Given the description of an element on the screen output the (x, y) to click on. 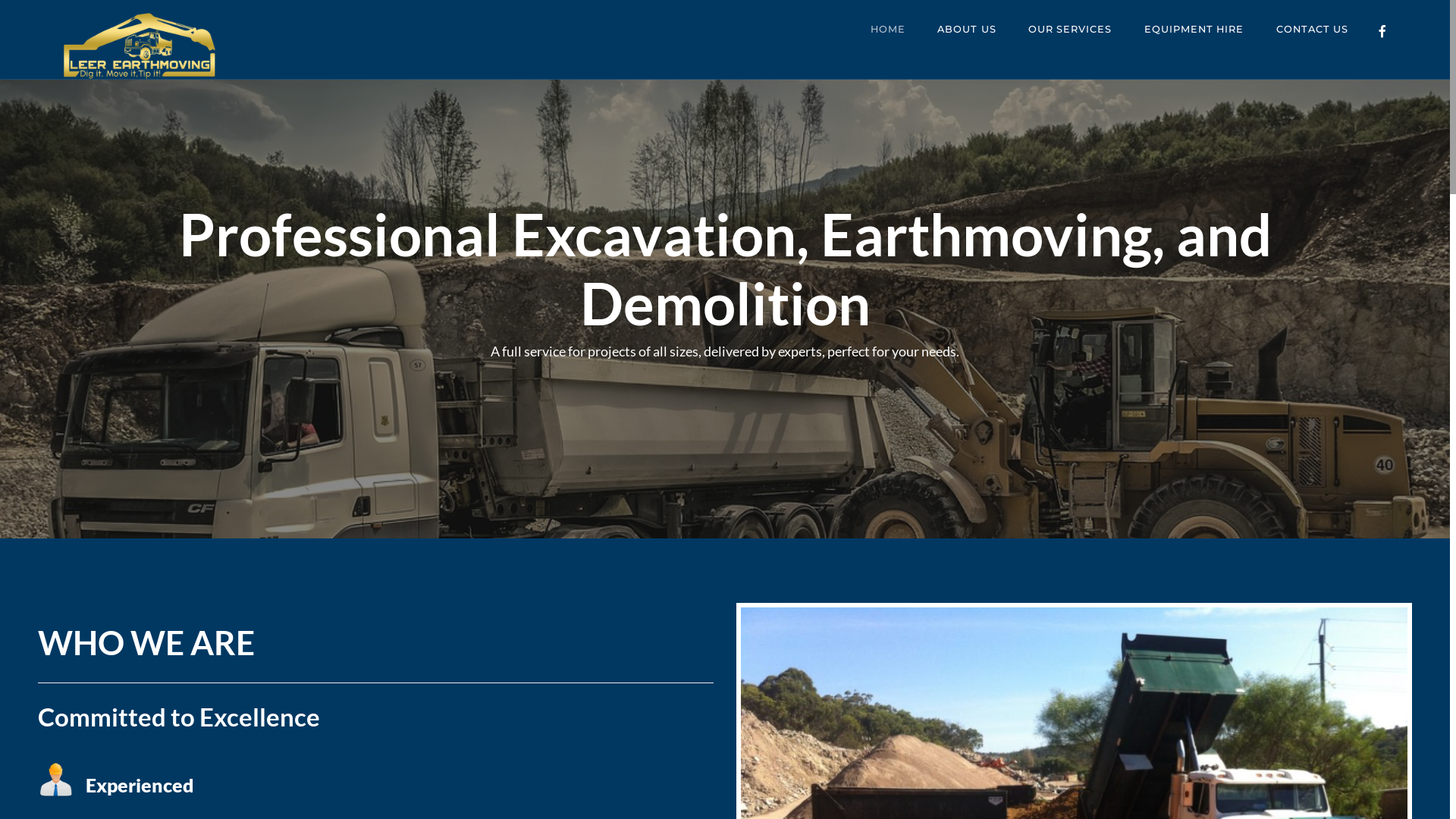
HOME Element type: text (887, 29)
CONTACT US Element type: text (1312, 29)
EQUIPMENT HIRE Element type: text (1193, 29)
OUR SERVICES Element type: text (1069, 29)
ABOUT US Element type: text (966, 29)
